Given the description of an element on the screen output the (x, y) to click on. 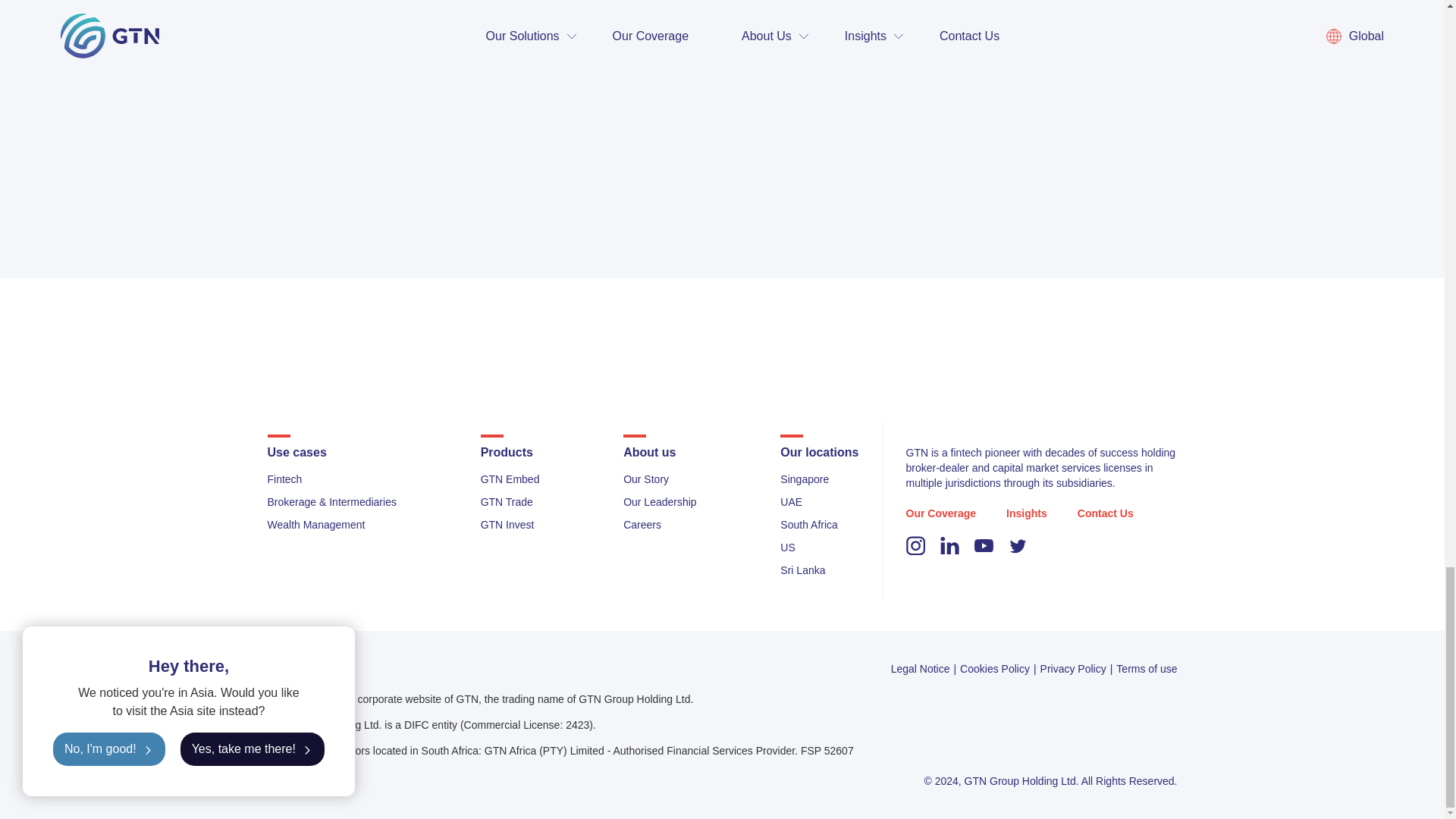
Fintech (283, 478)
